Given the description of an element on the screen output the (x, y) to click on. 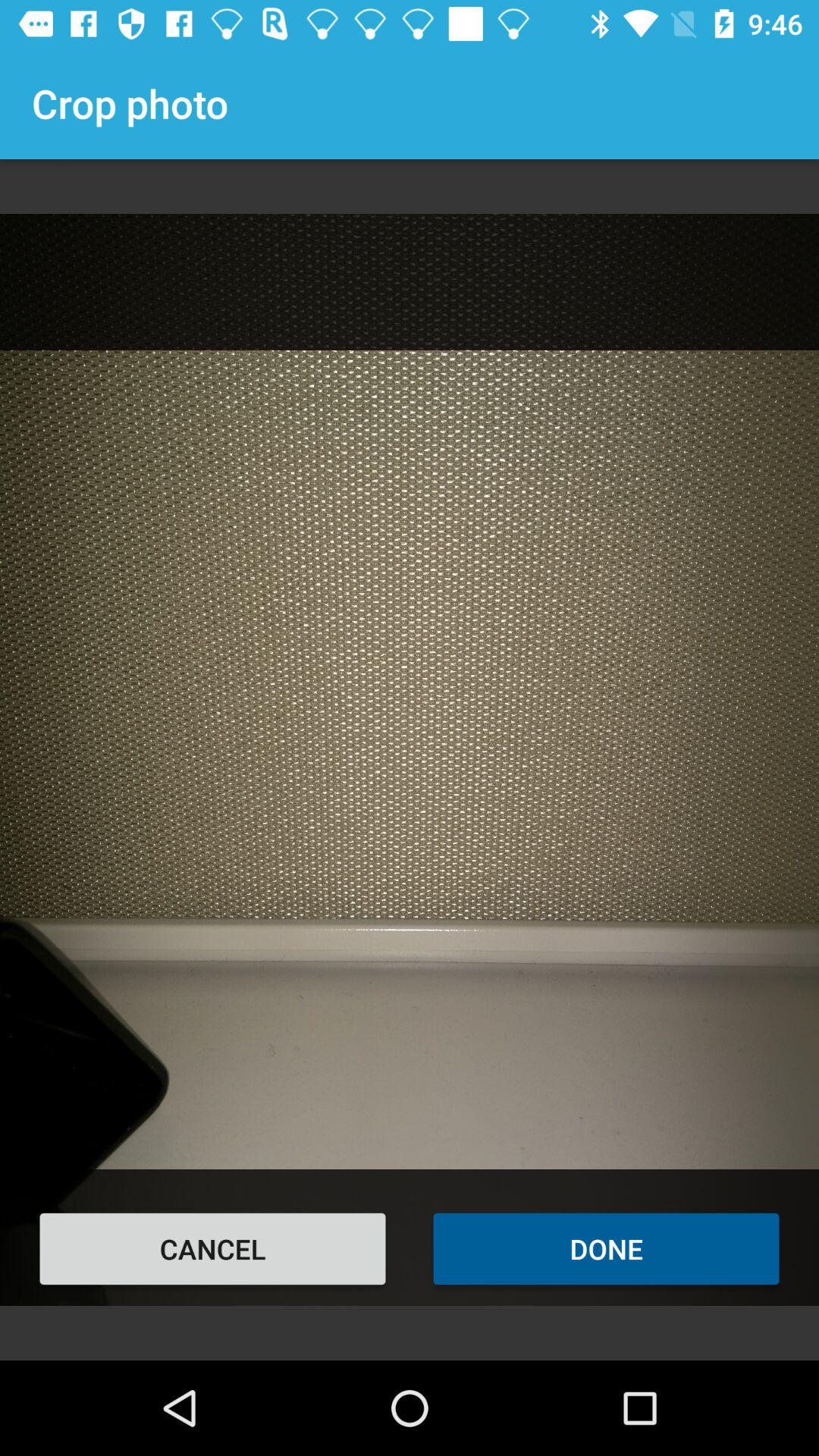
select done icon (606, 1248)
